Given the description of an element on the screen output the (x, y) to click on. 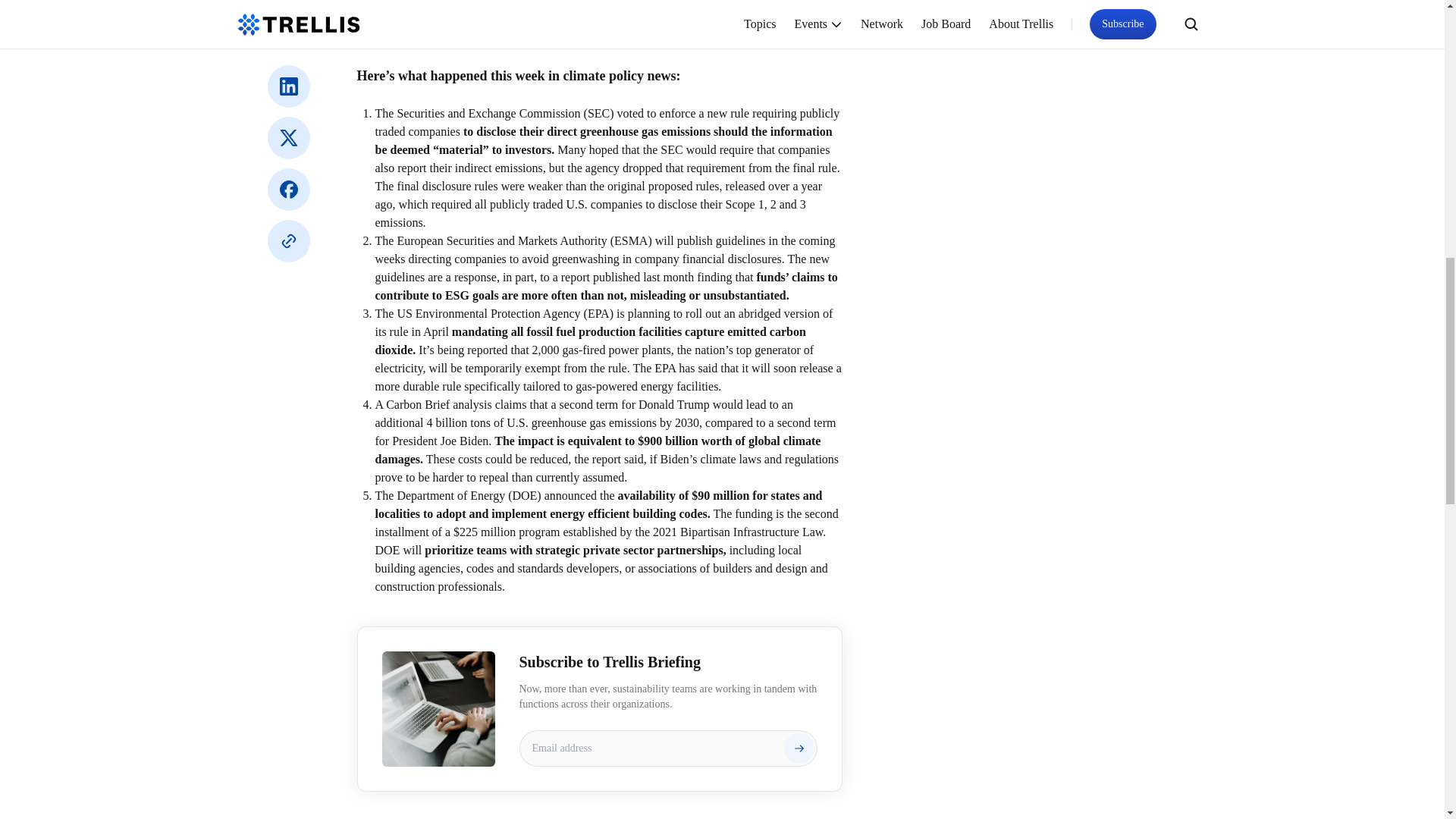
Carbon Brief analysis claims (455, 404)
X (287, 137)
is planning to roll out (667, 313)
Subscribe (798, 748)
publish guidelines in the coming weeks (604, 249)
voted to enforce a new rule (683, 113)
Facebook (287, 189)
LinkedIn (287, 86)
Website (287, 241)
